Given the description of an element on the screen output the (x, y) to click on. 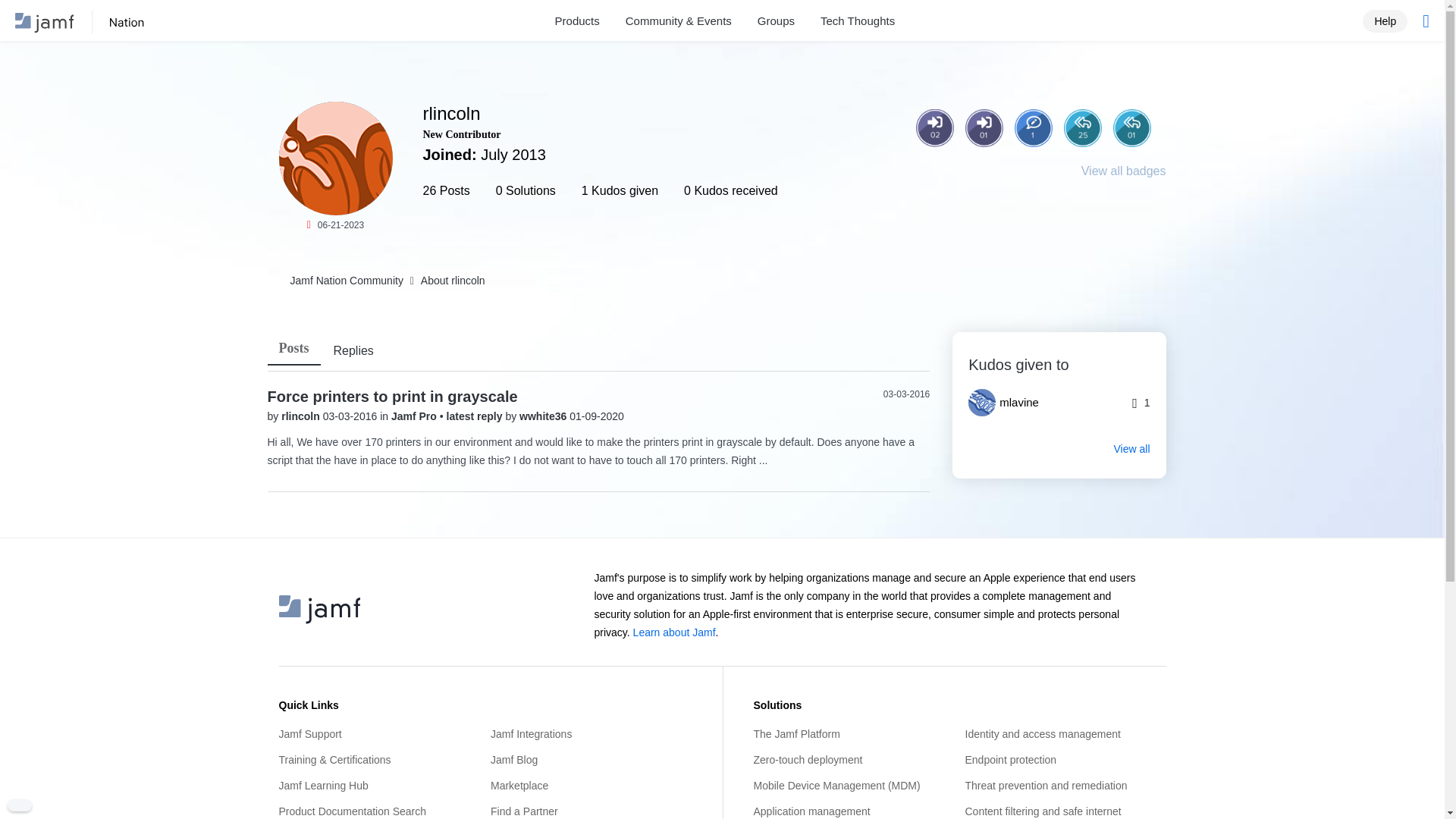
Learn about Jamf (674, 632)
CMA Certified (1081, 180)
Jamf Nation Community (103, 22)
Jamf Support (379, 733)
Login (983, 127)
View profile (301, 416)
Products (576, 21)
Replies Authored (1132, 127)
mlavine (1008, 402)
CSE Certified (1033, 180)
Force printers to print in grayscale (391, 396)
latest reply (475, 416)
Topic Starter (1033, 127)
Groups (776, 21)
View all badges (1123, 170)
